Given the description of an element on the screen output the (x, y) to click on. 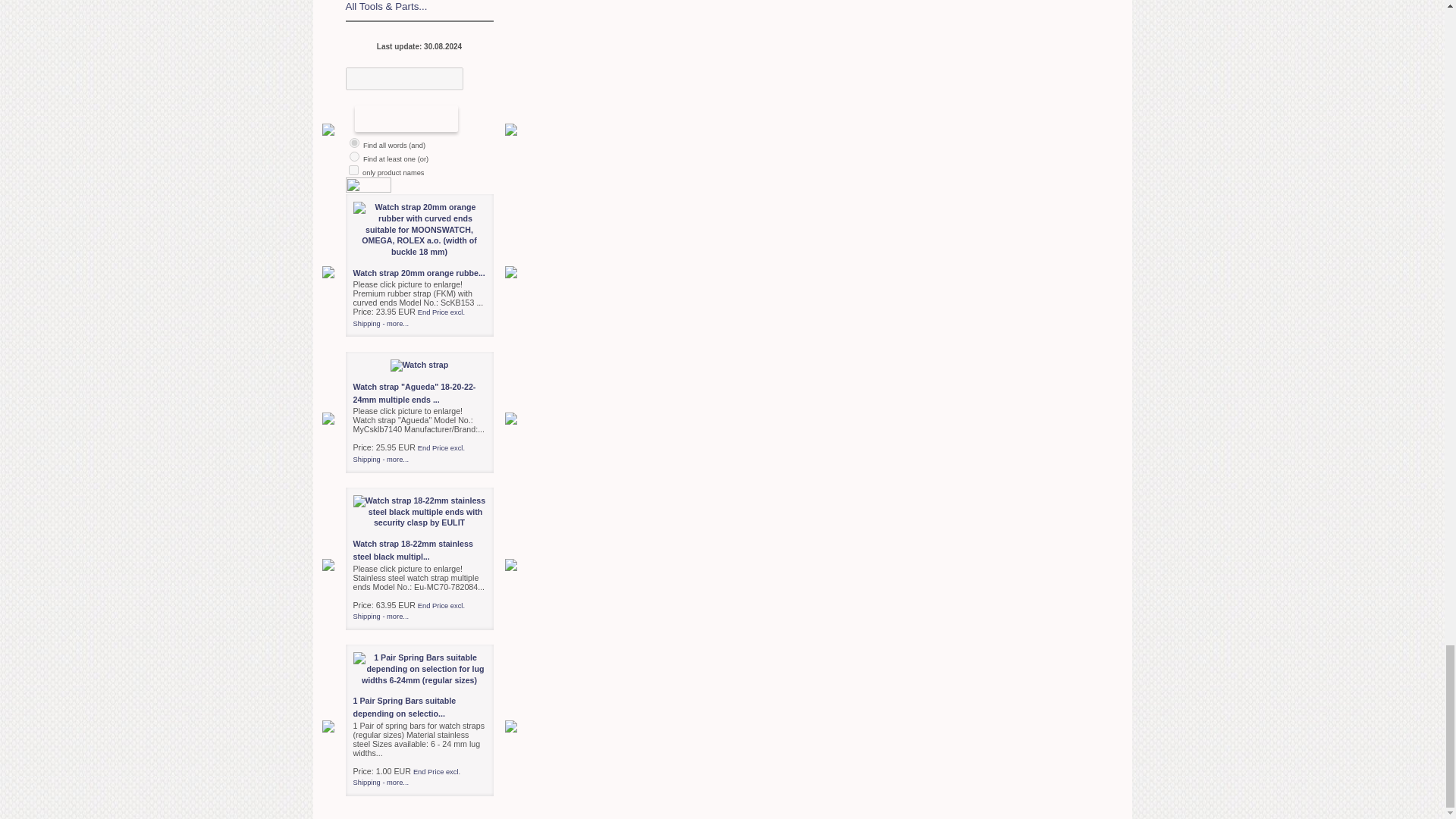
1 (353, 170)
1 (353, 143)
0 (353, 156)
